Given the description of an element on the screen output the (x, y) to click on. 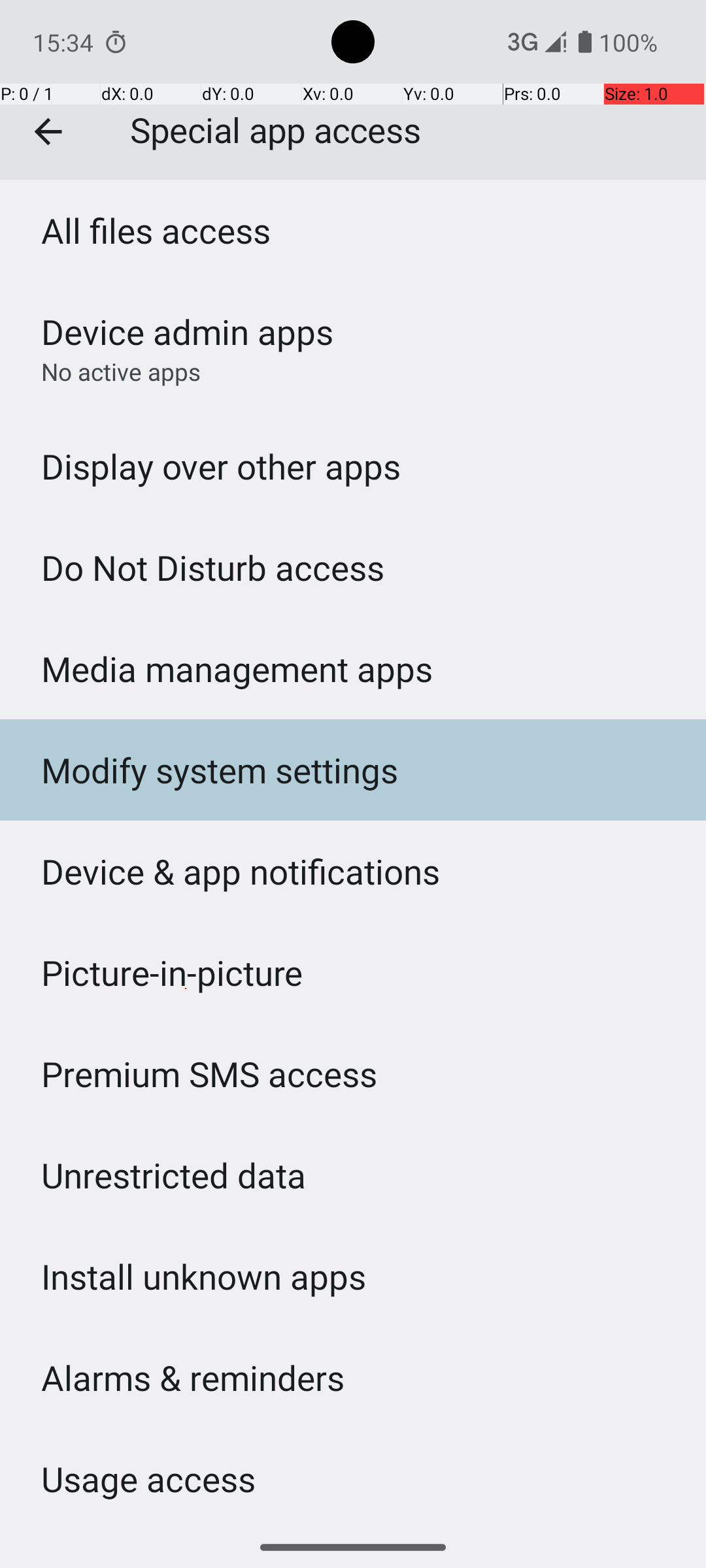
Special app access Element type: android.widget.FrameLayout (353, 89)
All files access Element type: android.widget.TextView (155, 230)
Device admin apps Element type: android.widget.TextView (187, 331)
No active apps Element type: android.widget.TextView (120, 371)
Display over other apps Element type: android.widget.TextView (220, 465)
Do Not Disturb access Element type: android.widget.TextView (212, 567)
Media management apps Element type: android.widget.TextView (236, 668)
Modify system settings Element type: android.widget.TextView (219, 769)
Device & app notifications Element type: android.widget.TextView (240, 871)
Picture-in-picture Element type: android.widget.TextView (172, 972)
Premium SMS access Element type: android.widget.TextView (209, 1073)
Unrestricted data Element type: android.widget.TextView (173, 1174)
Install unknown apps Element type: android.widget.TextView (203, 1276)
Alarms & reminders Element type: android.widget.TextView (192, 1377)
Usage access Element type: android.widget.TextView (148, 1478)
